Given the description of an element on the screen output the (x, y) to click on. 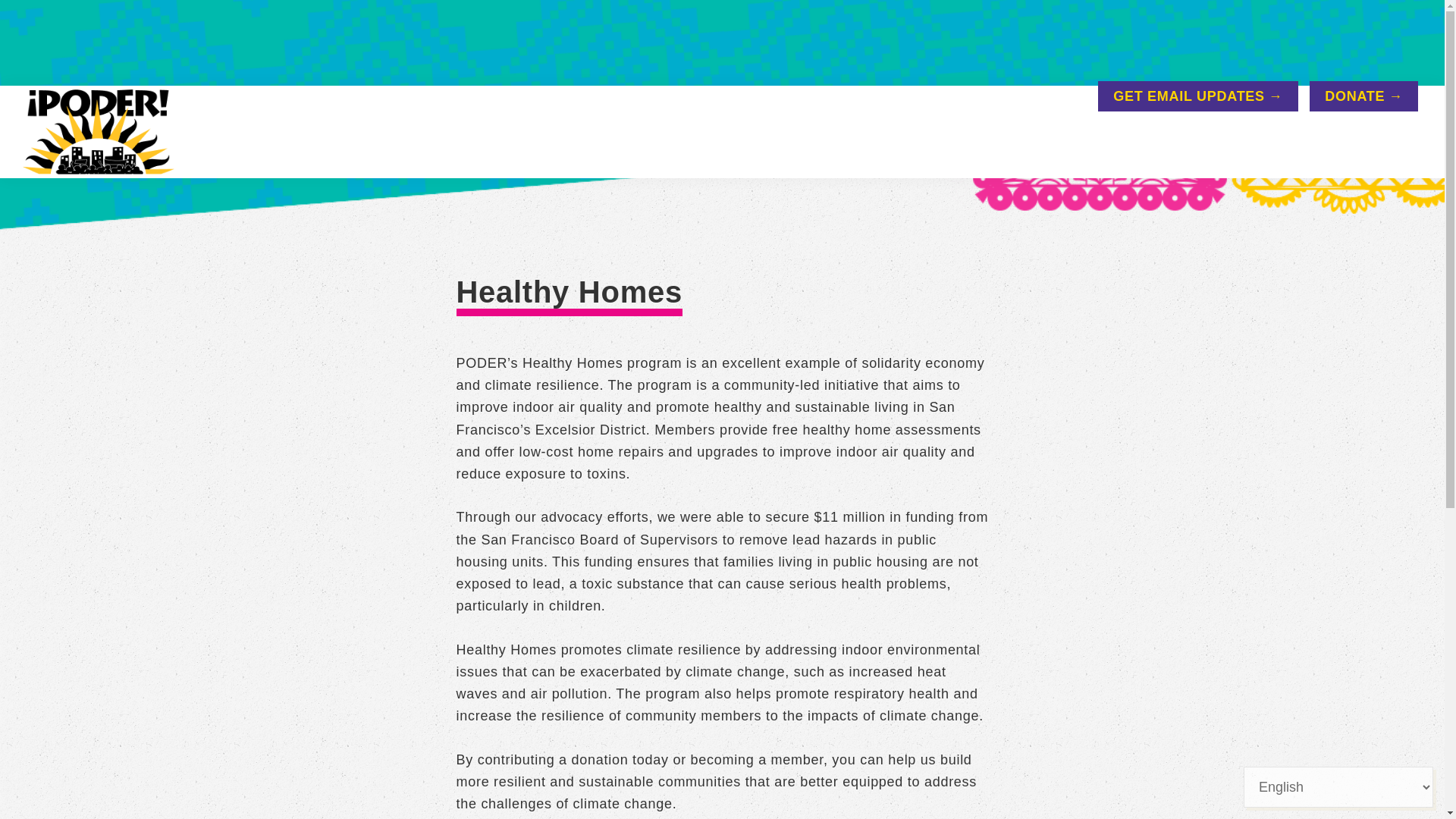
ABOUT (795, 143)
GET EMAIL UPDATES (1197, 96)
DONATE (1363, 96)
OUR WORK (896, 143)
CALENDAR (1140, 143)
RESOURCES (1019, 143)
